Given the description of an element on the screen output the (x, y) to click on. 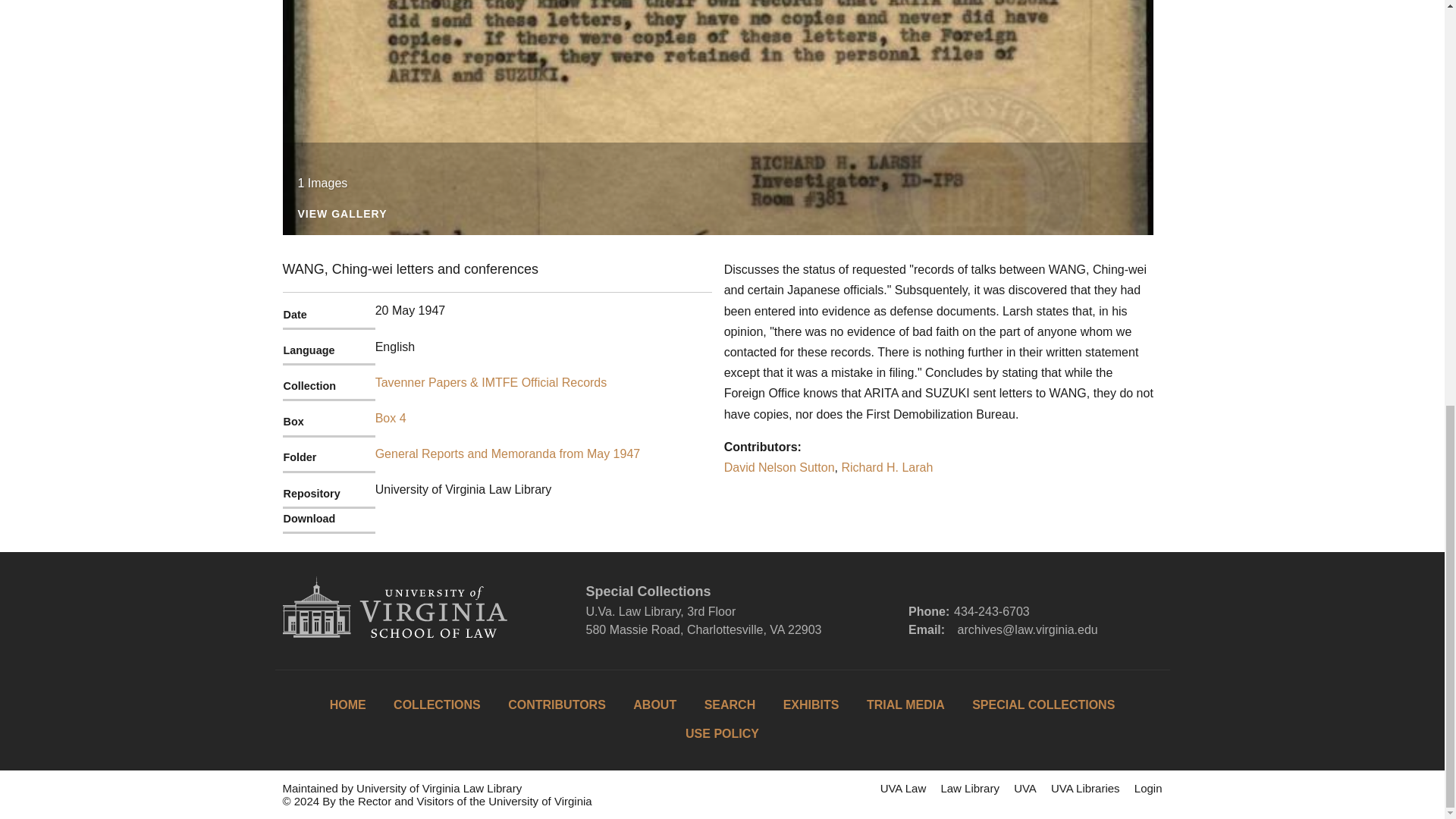
USE POLICY (721, 733)
UVA (1024, 788)
CONTRIBUTORS (556, 704)
EXHIBITS (811, 704)
HOME (348, 704)
SEARCH (729, 704)
Richard H. Larah (887, 467)
TRIAL MEDIA (905, 704)
ABOUT (655, 704)
Law Library (969, 788)
